Given the description of an element on the screen output the (x, y) to click on. 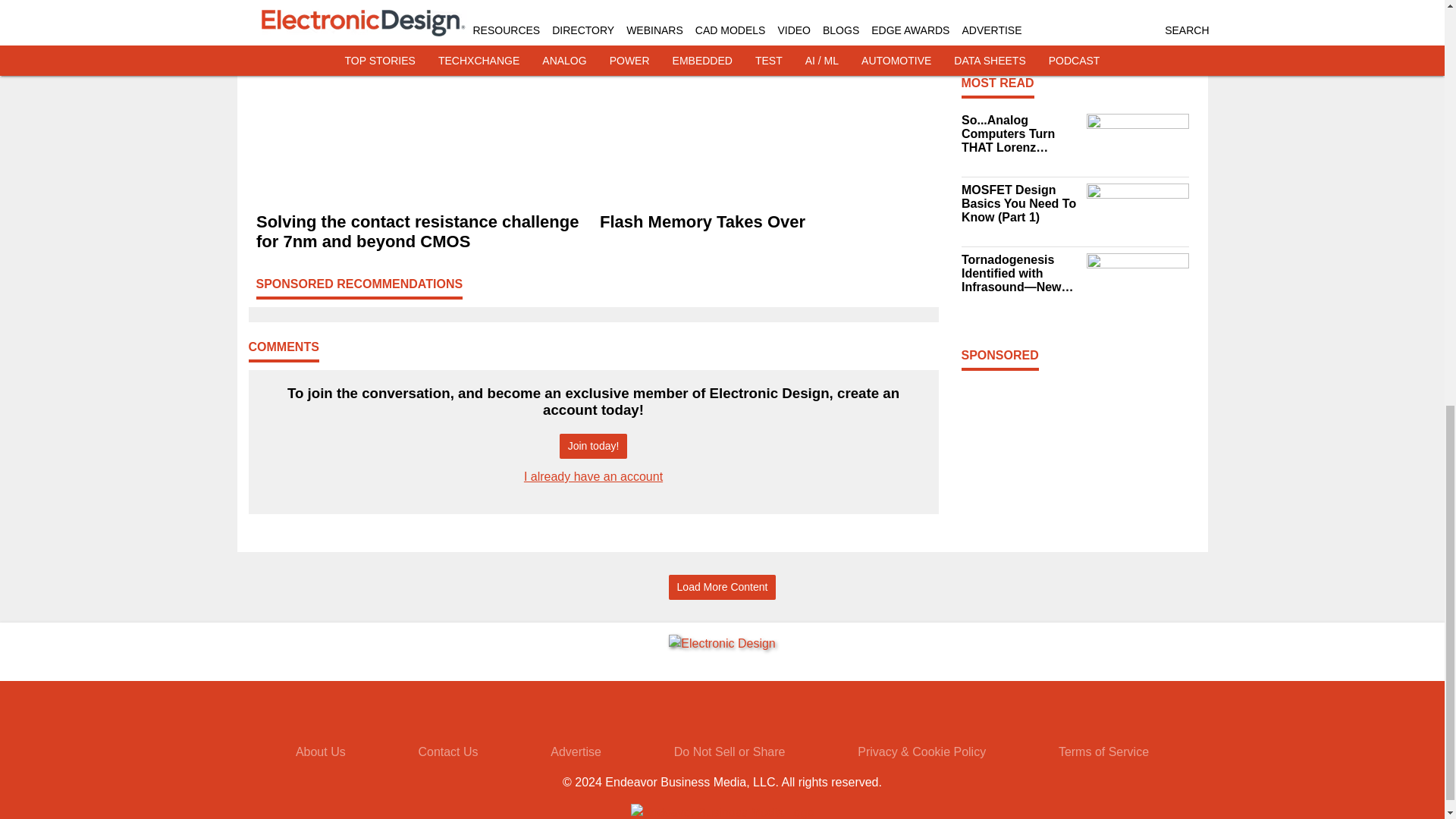
Flash Memory Takes Over (764, 221)
I already have an account (593, 476)
Join today! (593, 446)
